Given the description of an element on the screen output the (x, y) to click on. 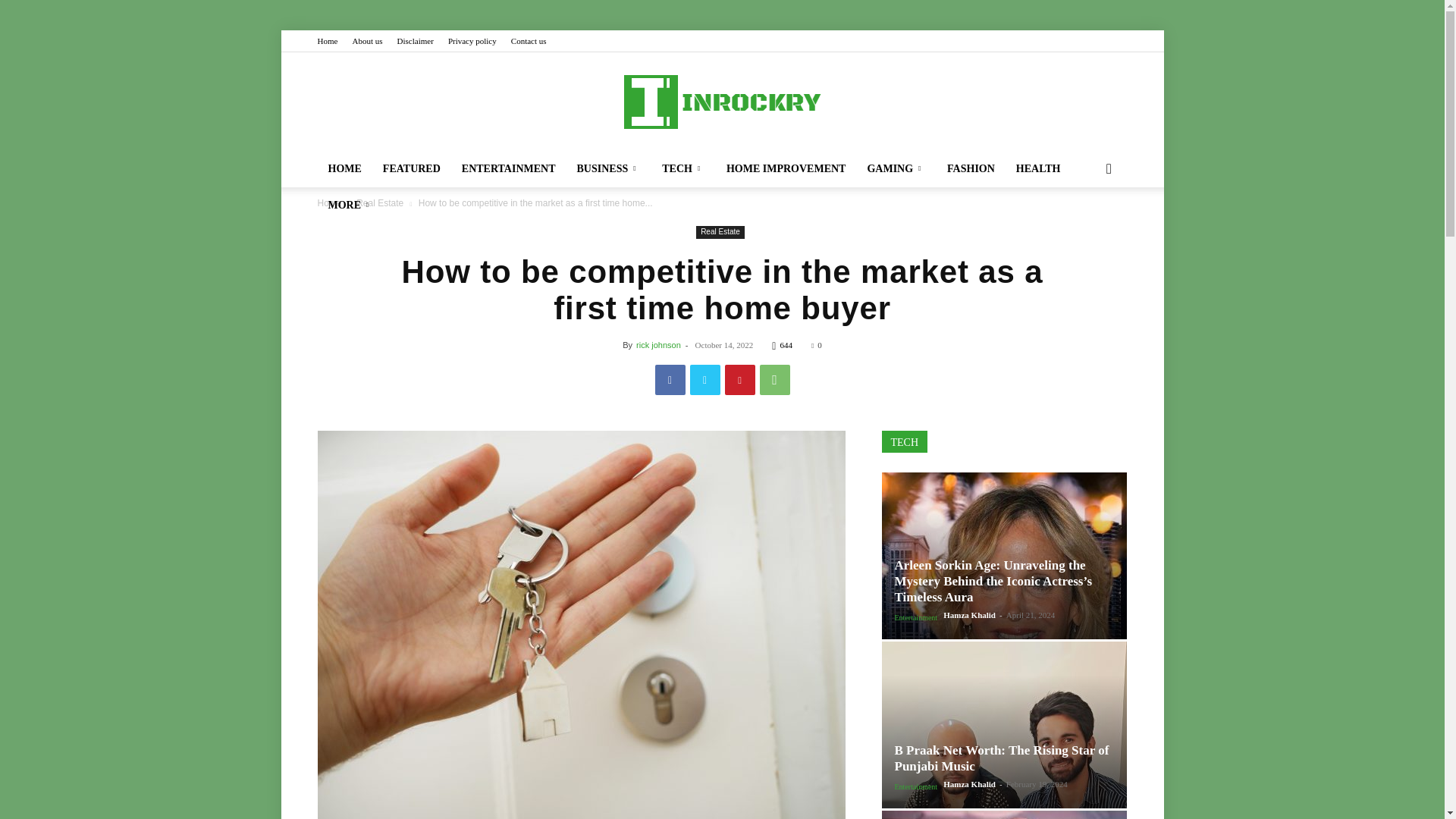
Privacy policy (472, 40)
Disclaimer (415, 40)
Twitter (705, 379)
VKontakte (1090, 40)
Youtube (1114, 40)
Contact us (529, 40)
View all posts in Real Estate (379, 203)
Twitter (1065, 40)
Facebook (1040, 40)
About us (366, 40)
Facebook (670, 379)
Home (327, 40)
Evernote (1015, 40)
